Given the description of an element on the screen output the (x, y) to click on. 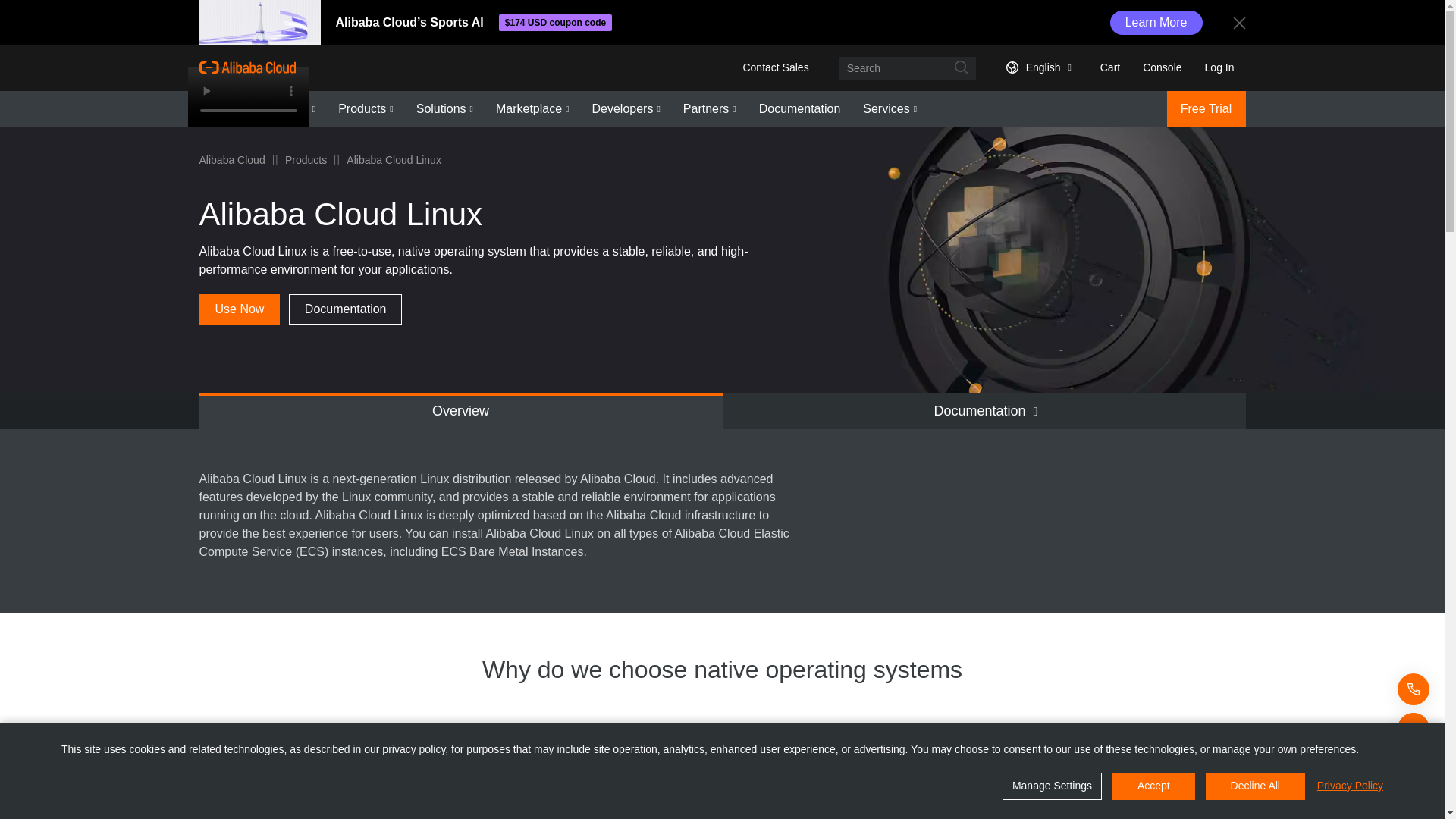
Alibaba Cloud (246, 67)
English (1035, 67)
Contact Sales (774, 67)
